Given the description of an element on the screen output the (x, y) to click on. 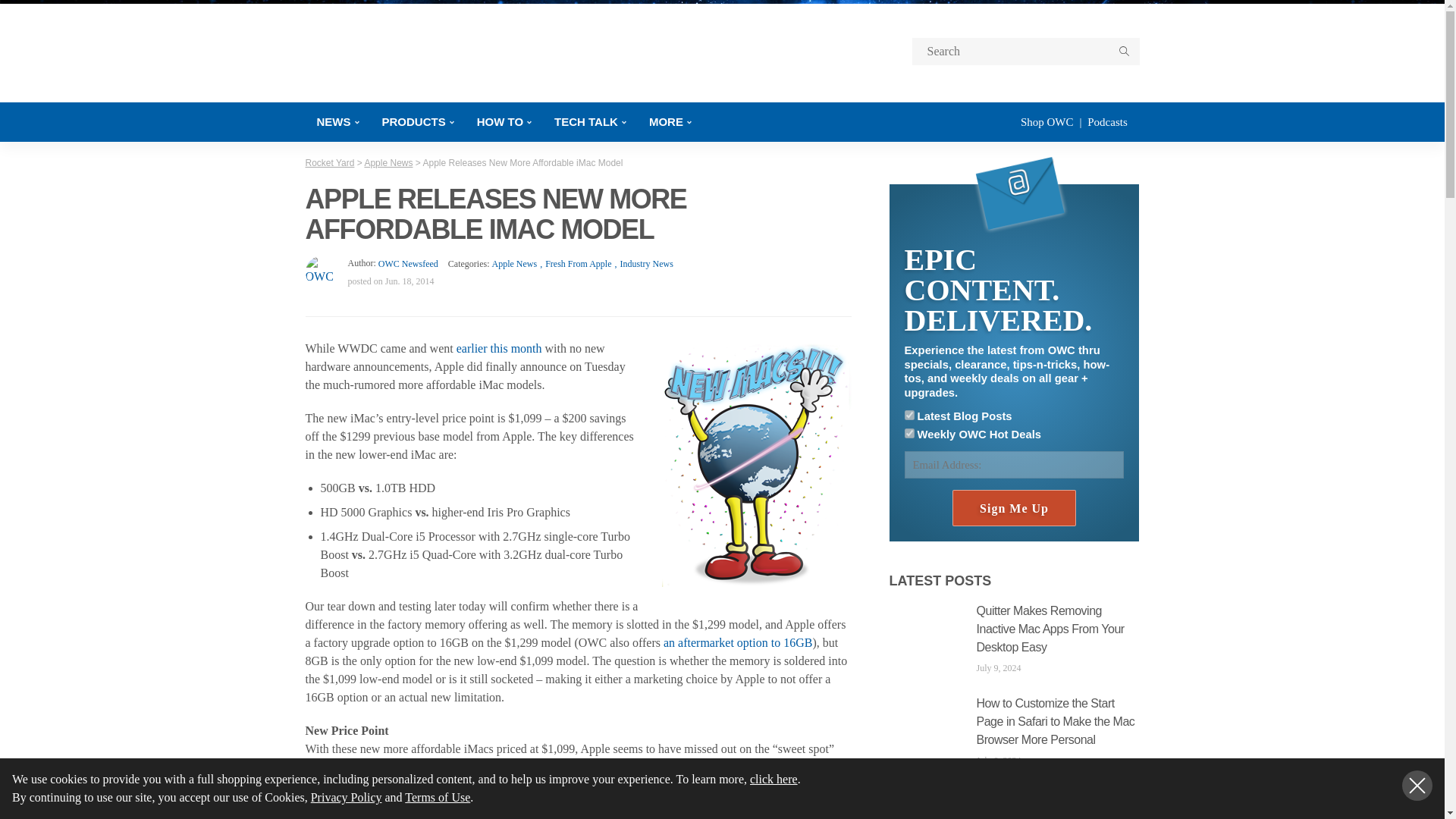
0bcd03ec00000000000000000000001f995c (909, 415)
NEWS (336, 121)
Sign Me Up (1013, 507)
search for: (1024, 51)
Industry News (641, 263)
Go to the Apple News category archives. (388, 163)
Fresh from Apple (574, 263)
Apple News (514, 263)
Go to Rocket Yard. (328, 163)
